Given the description of an element on the screen output the (x, y) to click on. 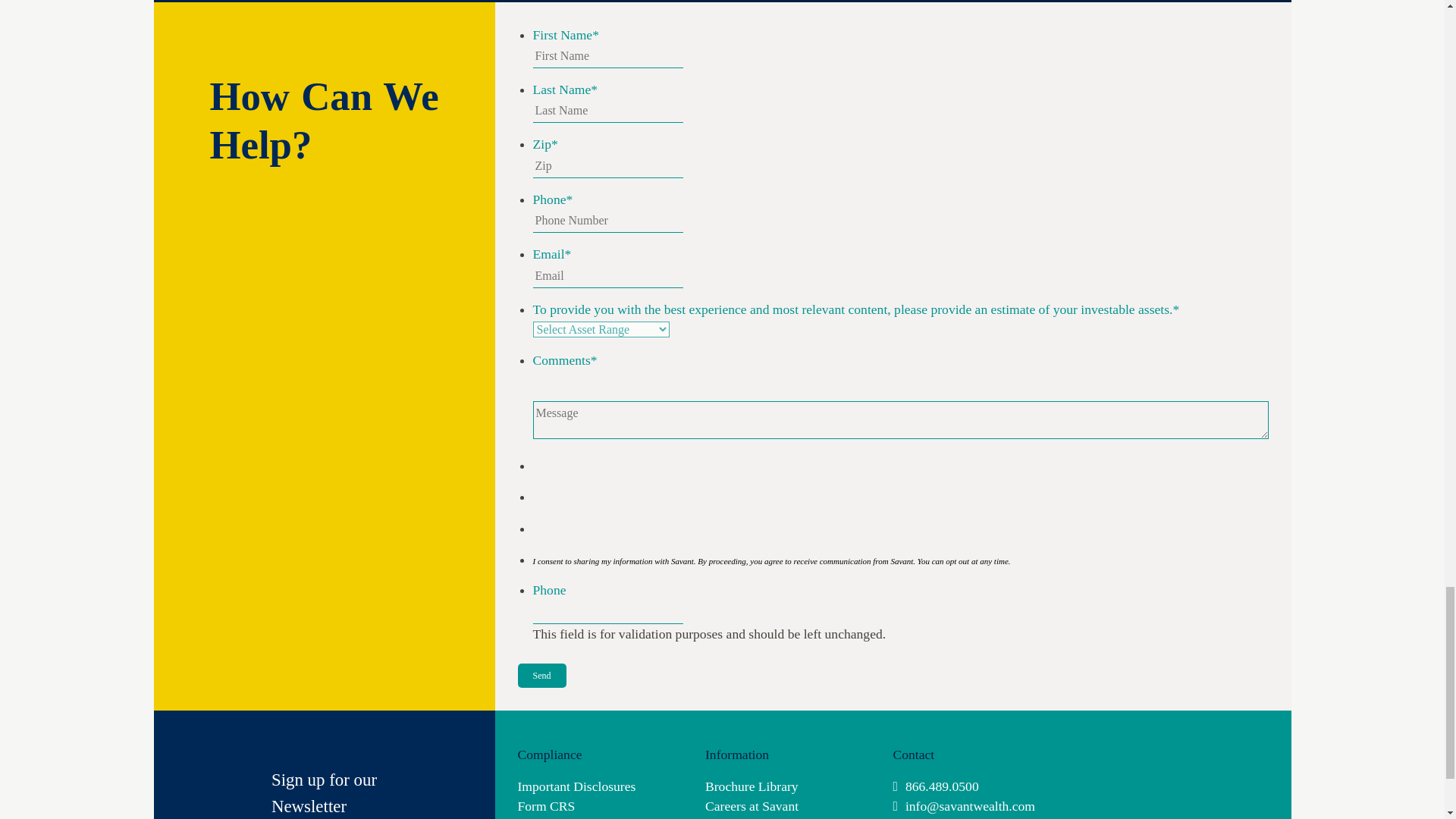
Send (541, 675)
